Given the description of an element on the screen output the (x, y) to click on. 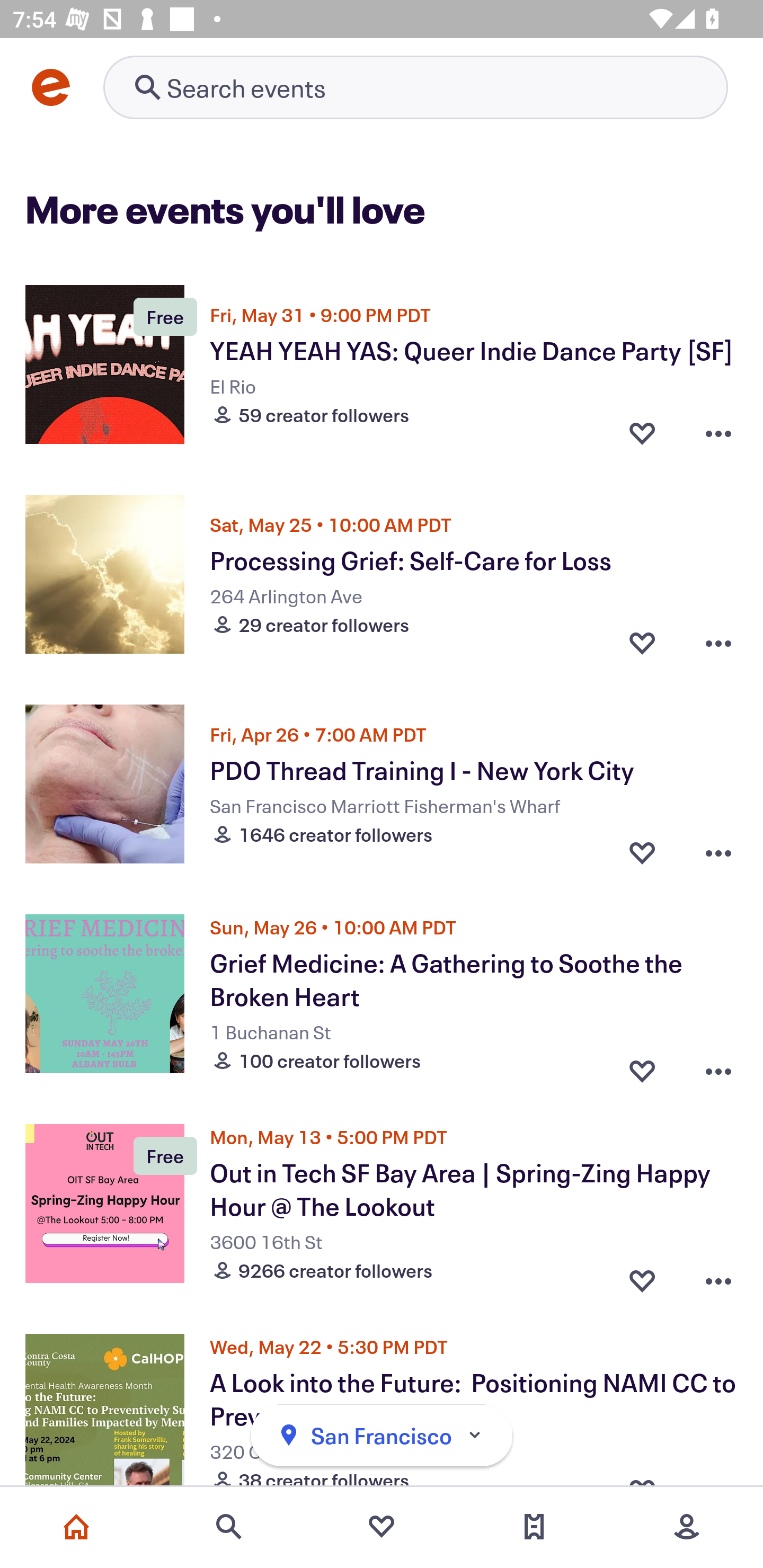
Retry's image Search events (415, 86)
Favorite button (642, 431)
Overflow menu button (718, 431)
Favorite button (642, 641)
Overflow menu button (718, 641)
Favorite button (642, 852)
Overflow menu button (718, 852)
Favorite button (642, 1066)
Overflow menu button (718, 1066)
Favorite button (642, 1275)
Overflow menu button (718, 1275)
San Francisco (381, 1435)
Home (76, 1526)
Search events (228, 1526)
Favorites (381, 1526)
Tickets (533, 1526)
More (686, 1526)
